Given the description of an element on the screen output the (x, y) to click on. 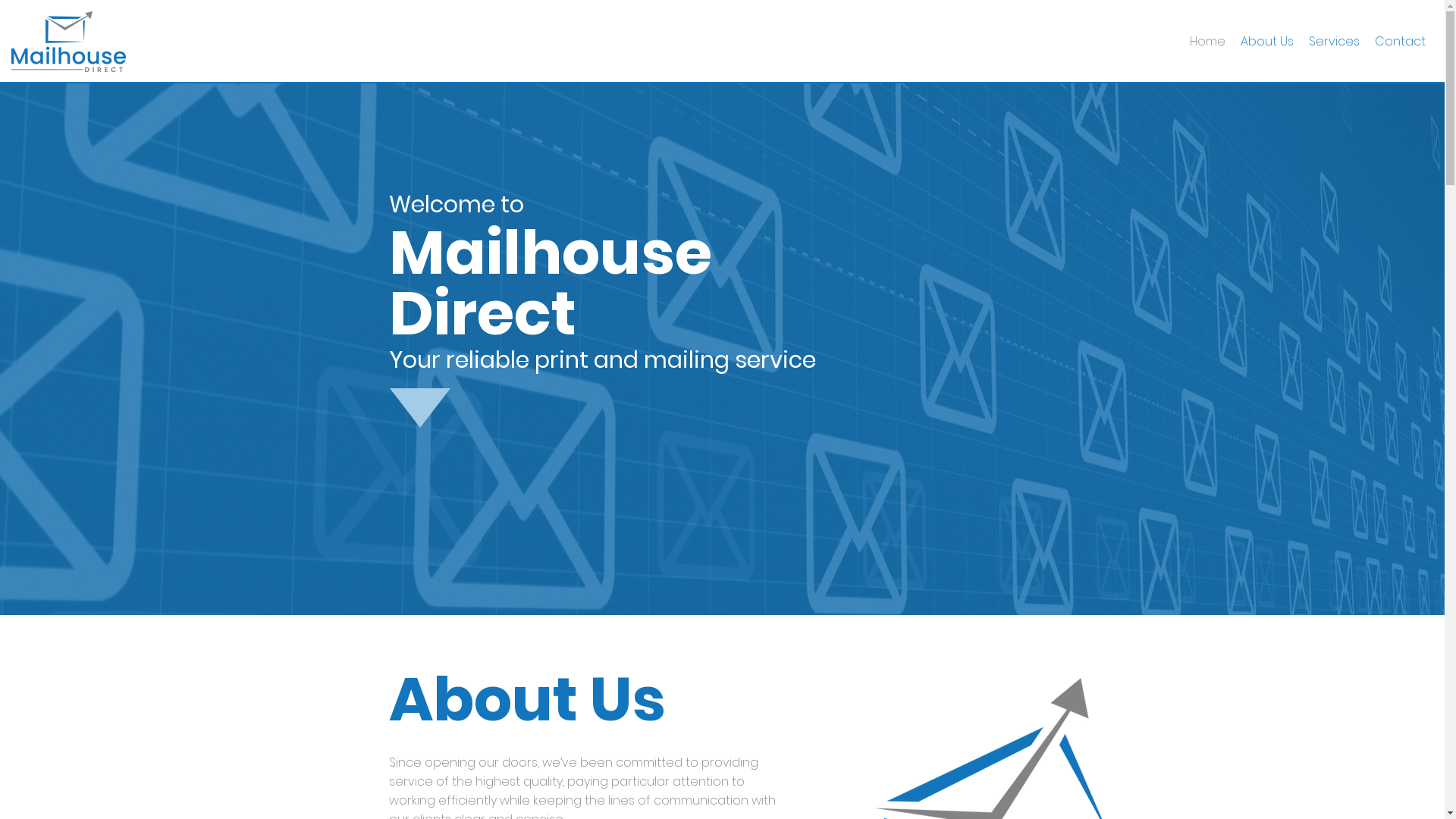
Contact Element type: text (1400, 41)
Home Element type: text (1207, 41)
Services Element type: text (1334, 41)
About Us Element type: text (1267, 41)
